Given the description of an element on the screen output the (x, y) to click on. 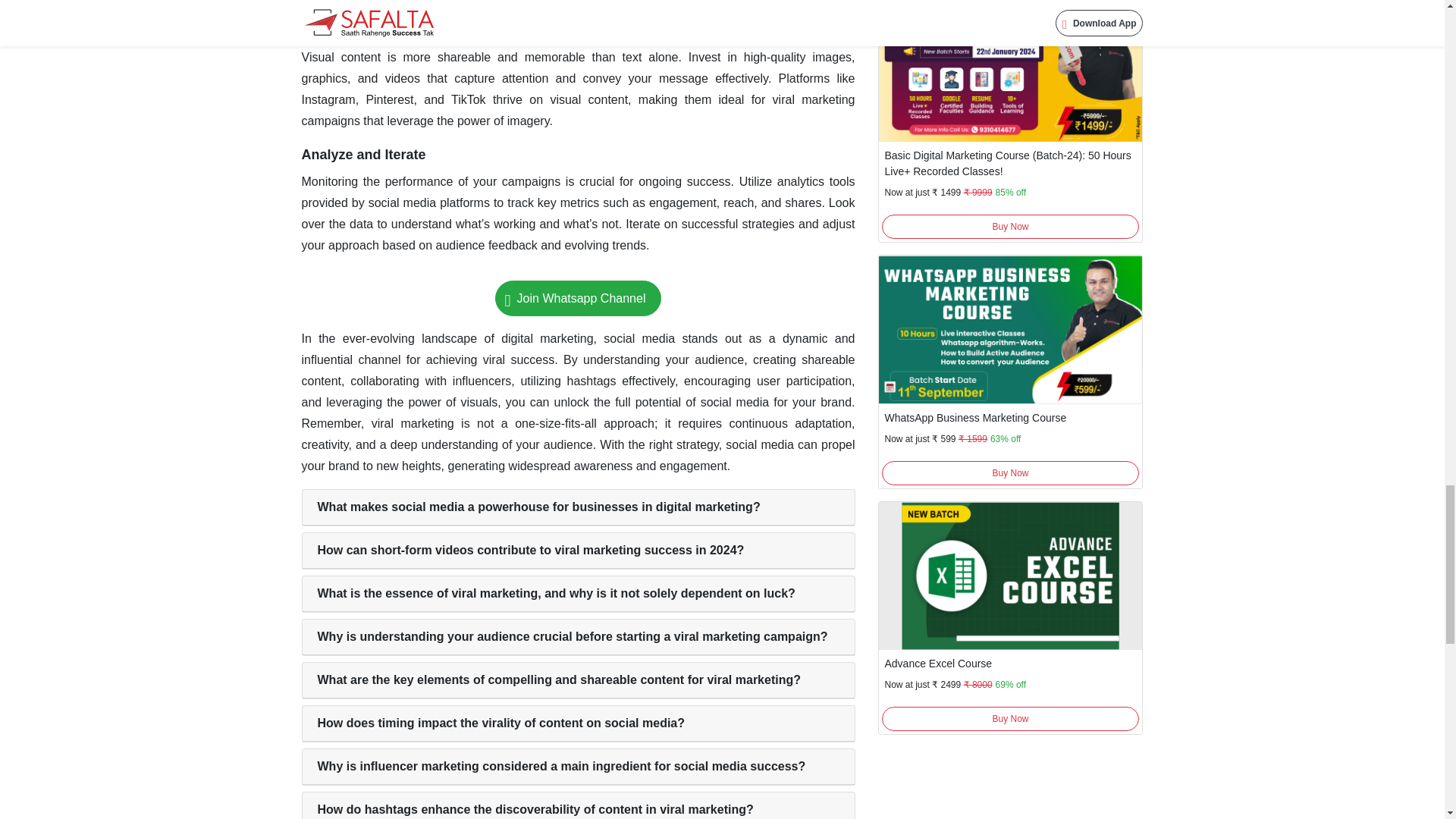
Analyze and Iterate (363, 154)
Join Whatsapp Channel (578, 298)
Leverage the Power of Visuals (400, 29)
follow our whatsapp channel (578, 298)
